Given the description of an element on the screen output the (x, y) to click on. 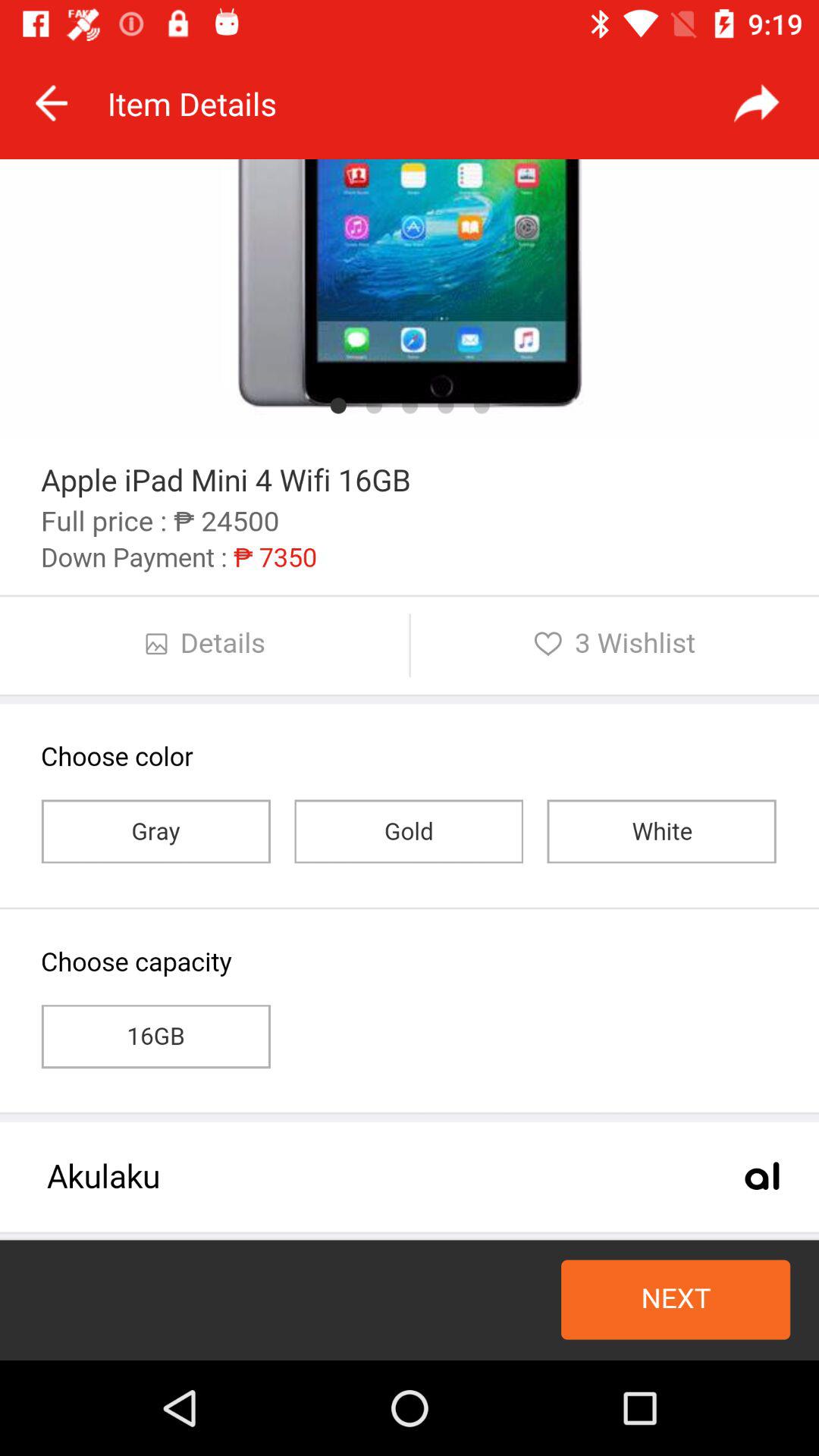
for word (756, 103)
